Given the description of an element on the screen output the (x, y) to click on. 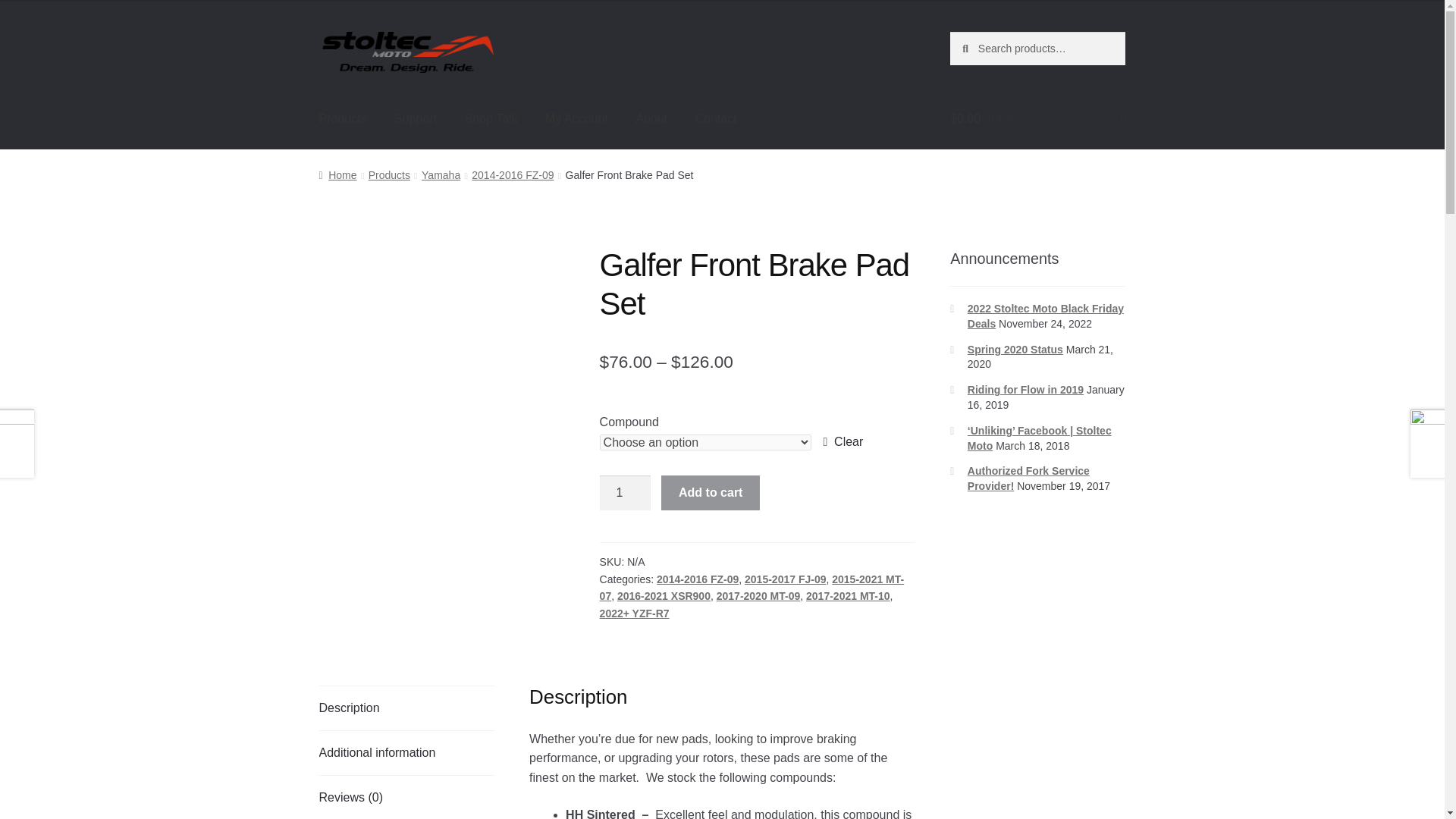
Yamaha (441, 174)
About (651, 118)
1 (624, 492)
Add to cart (710, 492)
View your shopping cart (1037, 118)
2014-2016 FZ-09 (697, 579)
Shop Talk (490, 118)
Clear (843, 442)
Additional information (406, 752)
